Given the description of an element on the screen output the (x, y) to click on. 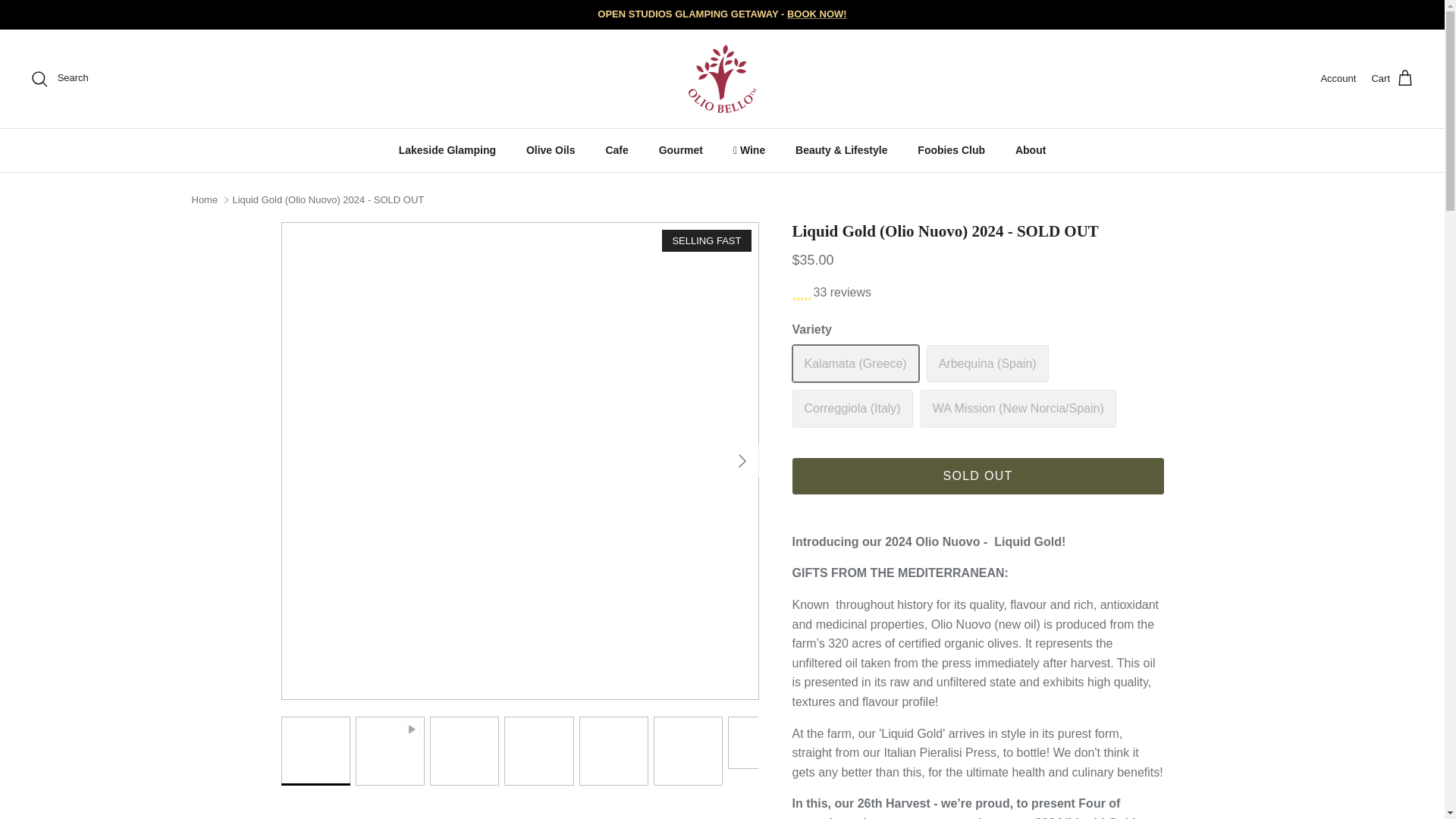
Olio Bello (722, 79)
Account (1337, 78)
Lakeside Glamping (447, 149)
RIGHT (741, 460)
BOOK NOW! (817, 13)
Search (59, 78)
Olive Oils (550, 149)
Cafe (616, 149)
Cart (1392, 78)
